Given the description of an element on the screen output the (x, y) to click on. 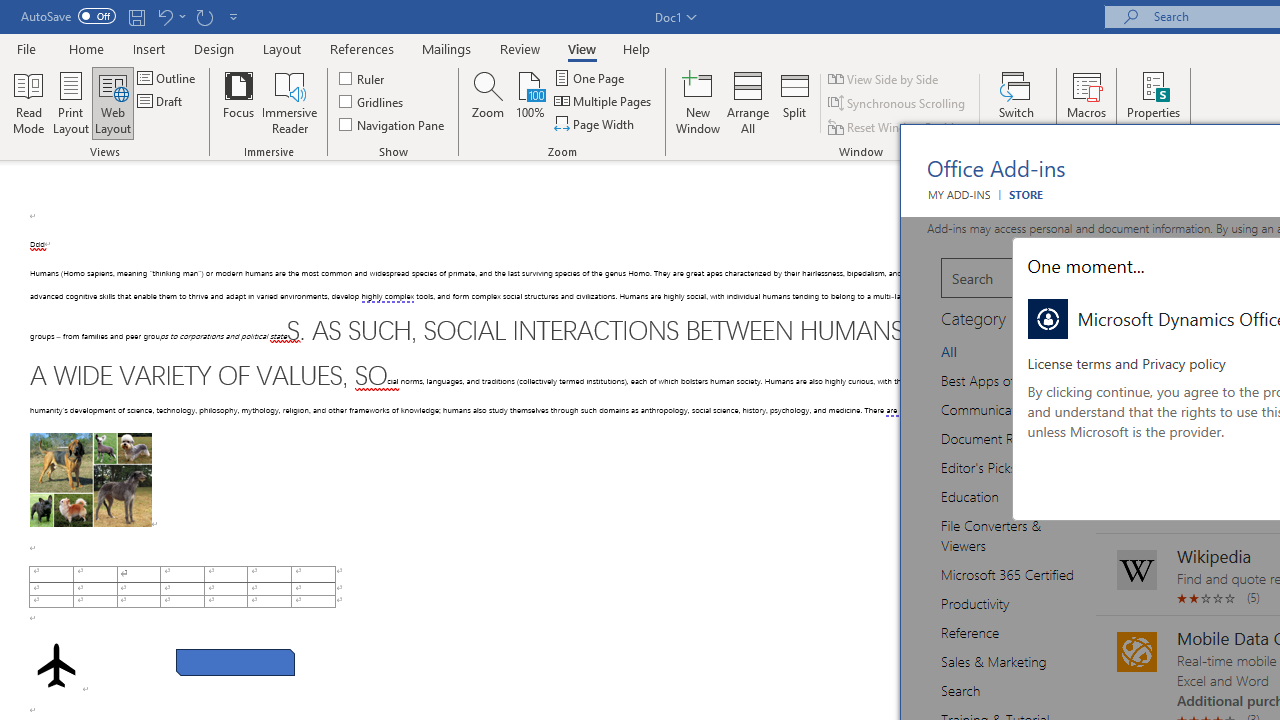
Multiple Pages (603, 101)
Navigation Pane (392, 124)
Split (795, 102)
Morphological variation in six dogs (90, 479)
Outline (168, 78)
Immersive Reader (289, 102)
Synchronous Scrolling (898, 103)
